Given the description of an element on the screen output the (x, y) to click on. 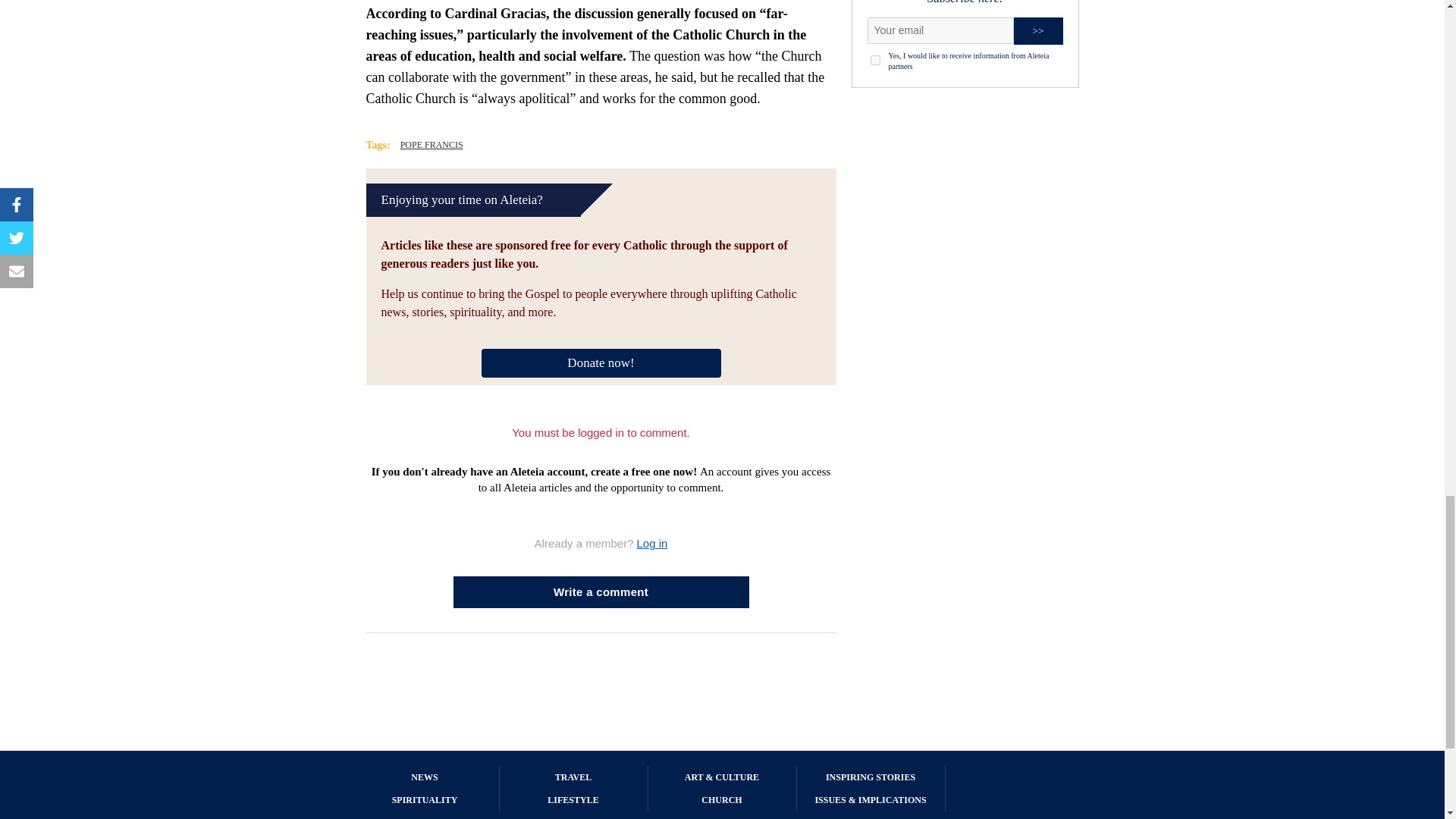
POPE FRANCIS (431, 144)
1 (875, 60)
Donate now! (600, 361)
